Given the description of an element on the screen output the (x, y) to click on. 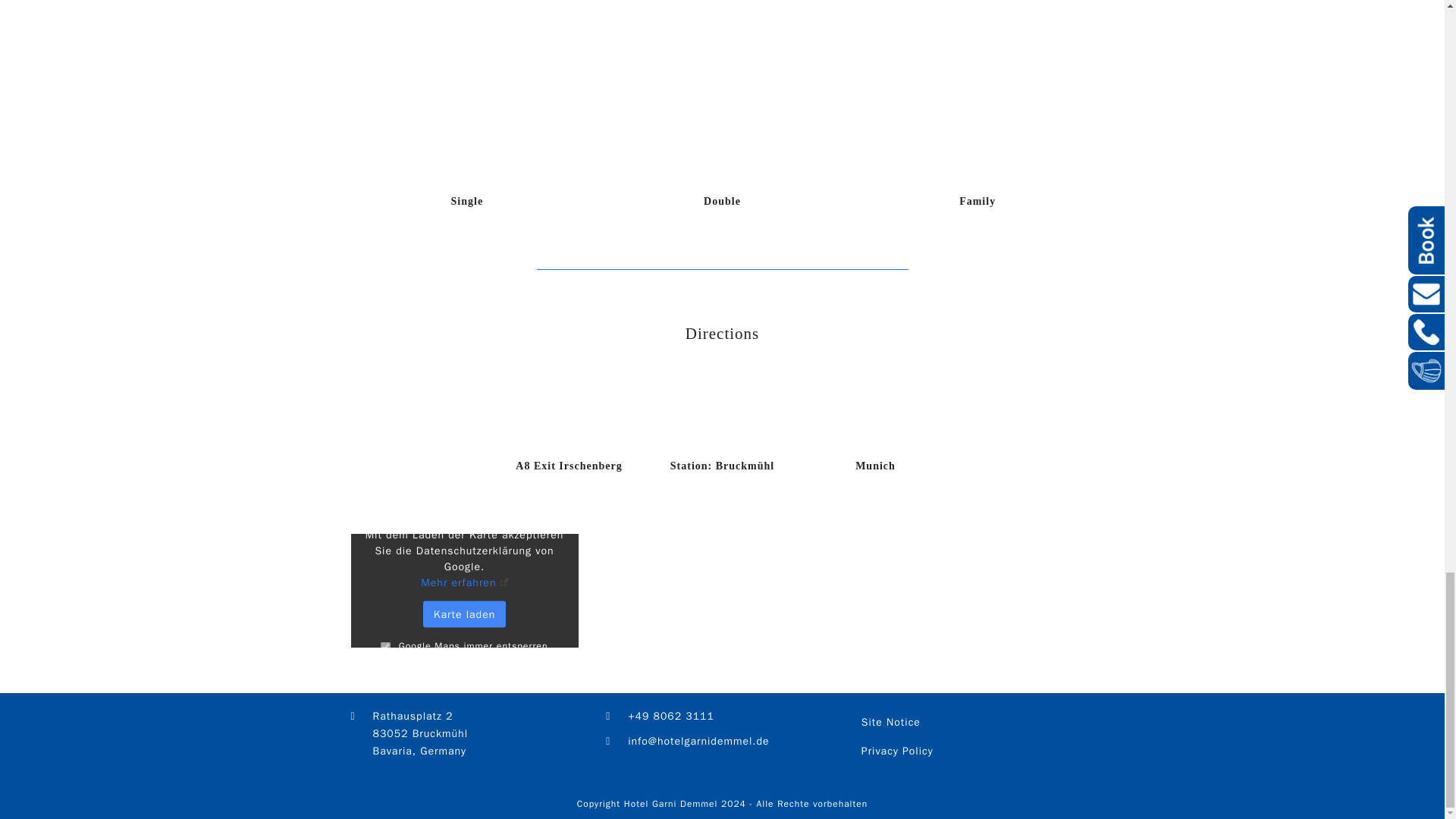
1 (385, 646)
Karte laden (464, 614)
Family (977, 201)
Double (722, 201)
Single (467, 201)
Mehr erfahren  (463, 582)
